Given the description of an element on the screen output the (x, y) to click on. 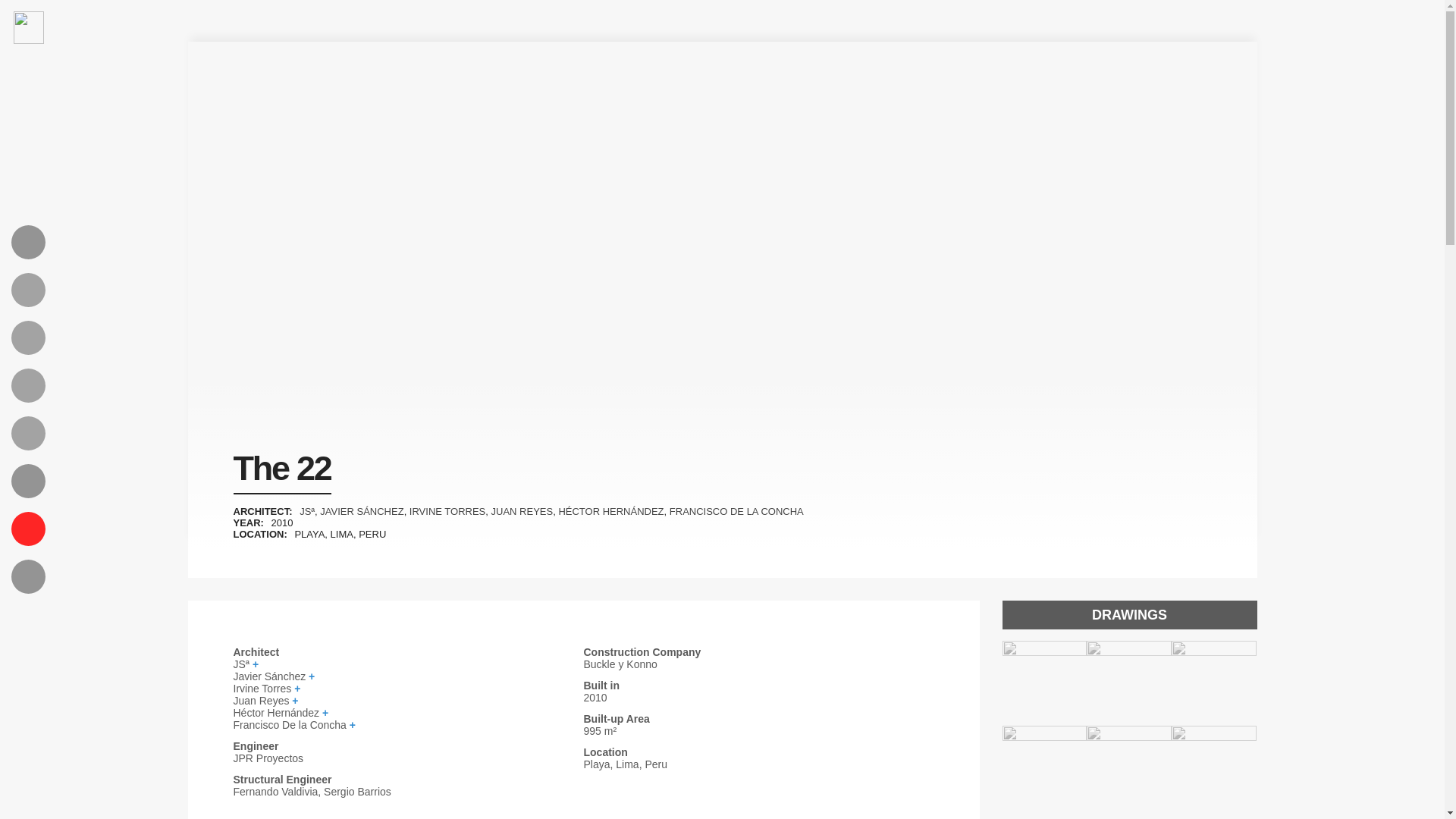
Juan Reyes (407, 700)
Irvine Torres (407, 688)
JUAN REYES (522, 511)
Francisco De la Concha (407, 725)
IRVINE TORRES (446, 511)
FRANCISCO DE LA CONCHA (736, 511)
